Given the description of an element on the screen output the (x, y) to click on. 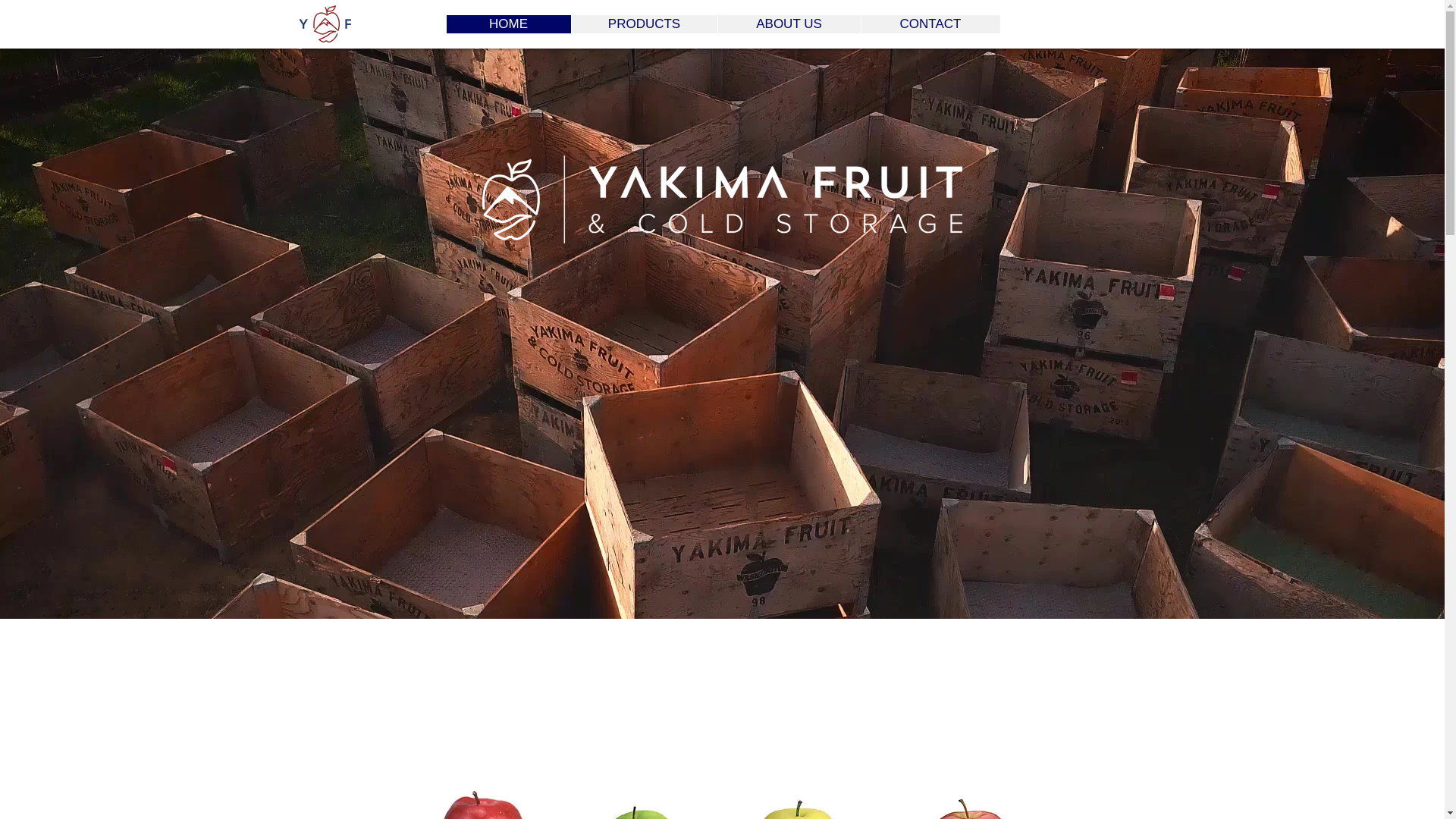
CONTACT (929, 24)
ABOUT US (788, 24)
PRODUCTS (643, 24)
HOME (507, 24)
